Given the description of an element on the screen output the (x, y) to click on. 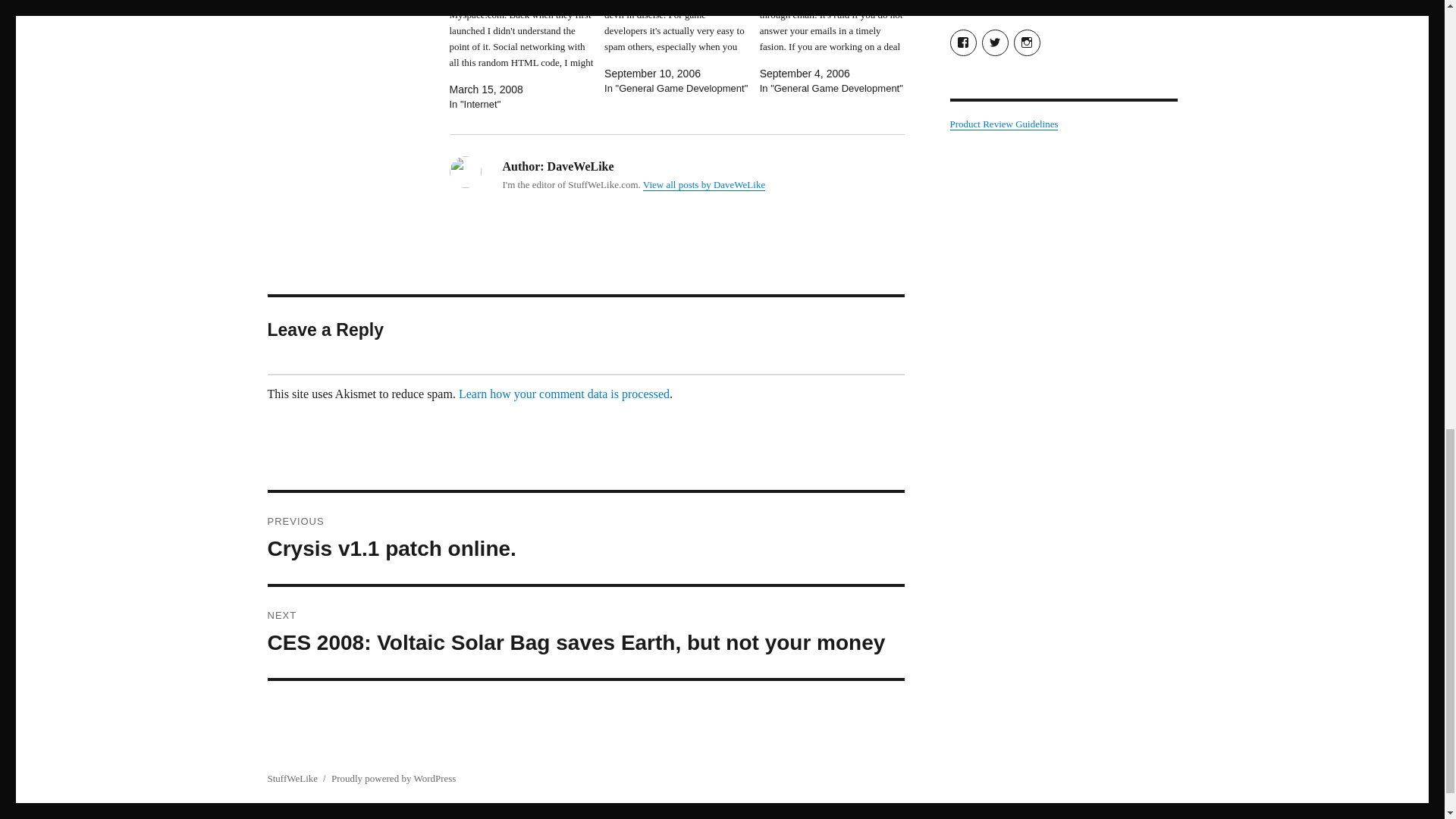
Learn how your comment data is processed (585, 538)
View all posts by DaveWeLike (563, 393)
Myspace Applications are here and StuffWeLike Jumps on IT! (704, 184)
Communication (526, 56)
